Given the description of an element on the screen output the (x, y) to click on. 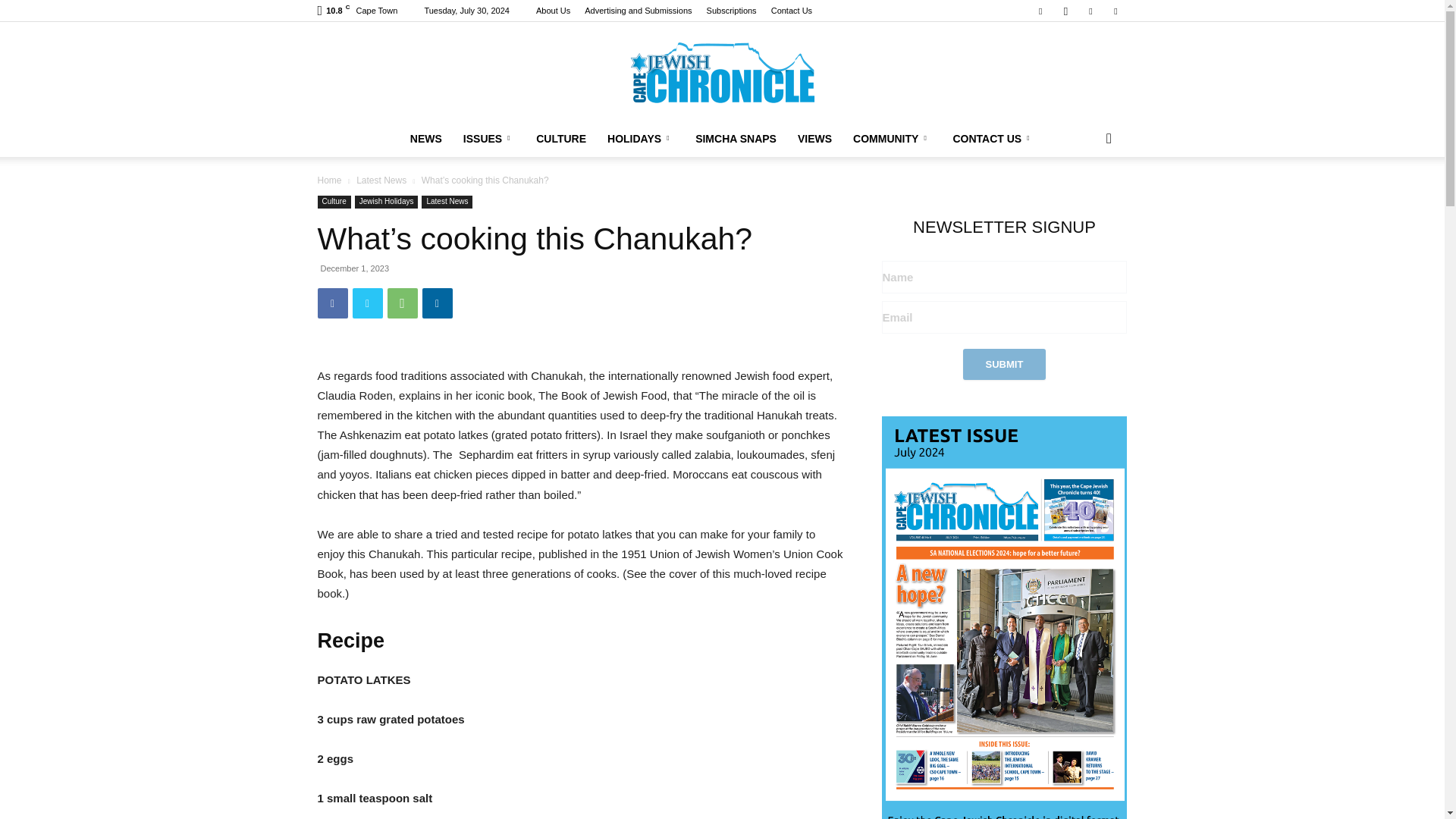
View all posts in Latest News (381, 180)
Linkedin (1090, 10)
Twitter (366, 303)
Facebook (1040, 10)
Instagram (1065, 10)
ISSUES (488, 138)
Advertising and Submissions (638, 10)
Facebook (332, 303)
Twitter (1114, 10)
WhatsApp (401, 303)
Linkedin (436, 303)
Contact Us (791, 10)
NEWS (425, 138)
Subscriptions (731, 10)
About Us (552, 10)
